Given the description of an element on the screen output the (x, y) to click on. 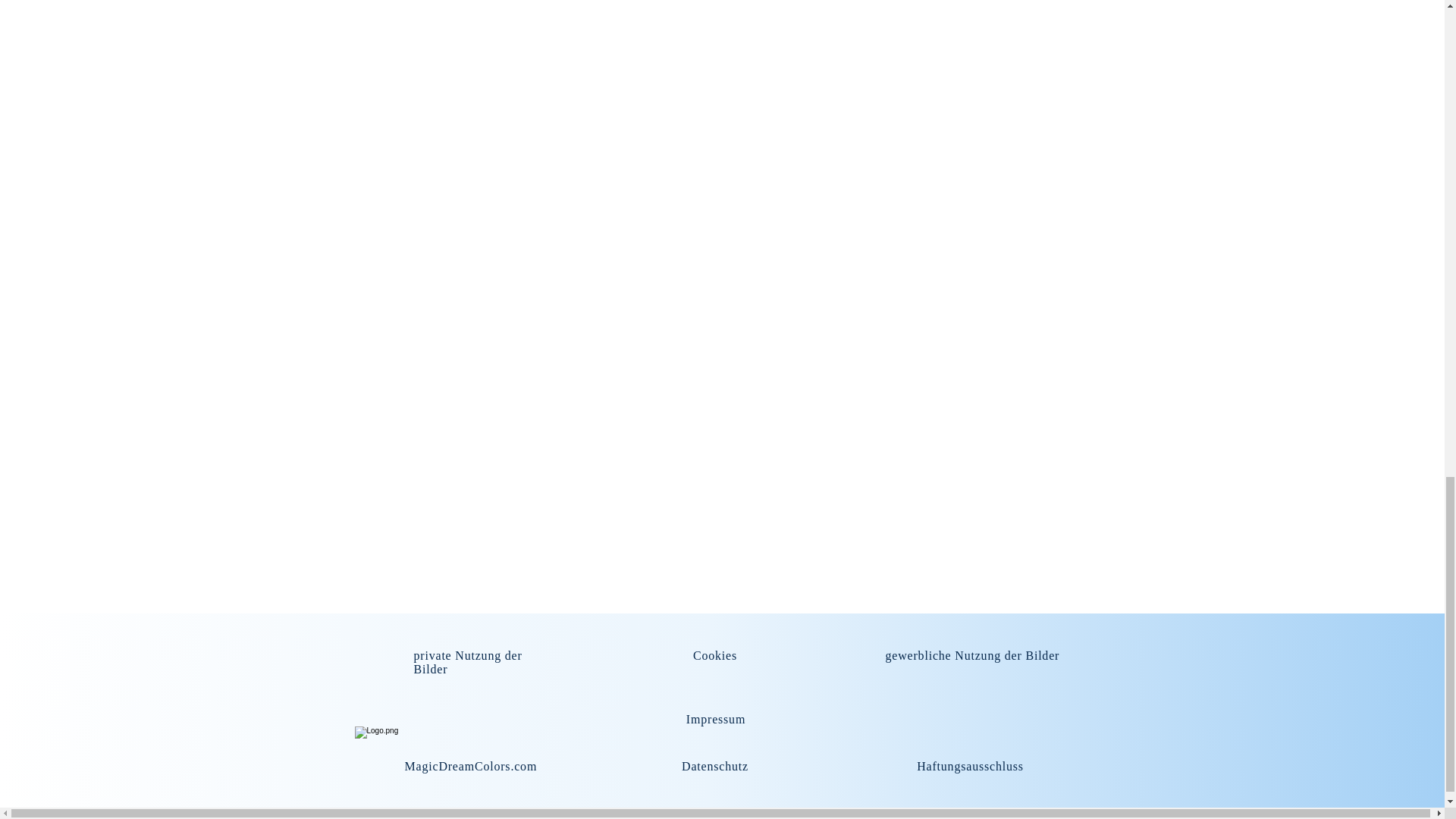
Datenschutz (714, 766)
Impressum (715, 718)
Haftungsausschluss (970, 766)
private Nutzung der Bilder (467, 662)
gewerbliche Nutzung der Bilder (972, 655)
Cookies (714, 655)
